Given the description of an element on the screen output the (x, y) to click on. 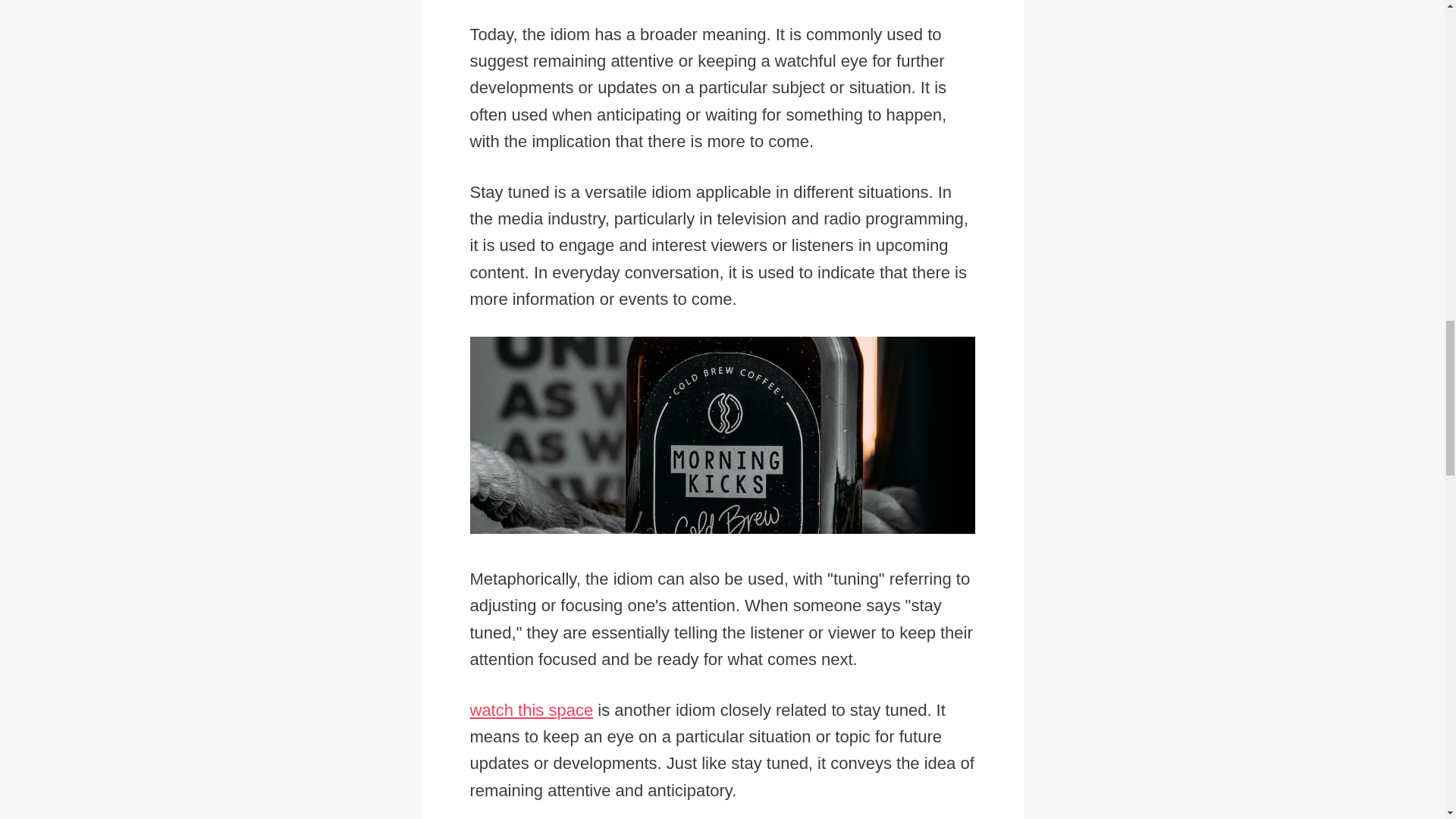
stay the course: Idiom Meaning and Origin (721, 61)
stay the distance: Idiom Meaning and Origin (205, 2)
stand with: Idiom Meaning and Origin (181, 429)
stand up: Idiom Meaning and Origin (175, 492)
stand pat: Idiom Meaning and Origin (721, 598)
stay the distance: Idiom Meaning and Origin (721, 7)
stay behind: Idiom Meaning and Origin (186, 367)
watch this space (532, 710)
stay put: Idiom Meaning and Origin (721, 182)
stay on: Idiom Meaning and Origin (721, 245)
stand pat: Idiom Meaning and Origin (177, 596)
stay the course: Idiom Meaning and Origin (199, 58)
stand with: Idiom Meaning and Origin (721, 432)
stay on: Idiom Meaning and Origin (170, 242)
stand up: Idiom Meaning and Origin (721, 494)
